Given the description of an element on the screen output the (x, y) to click on. 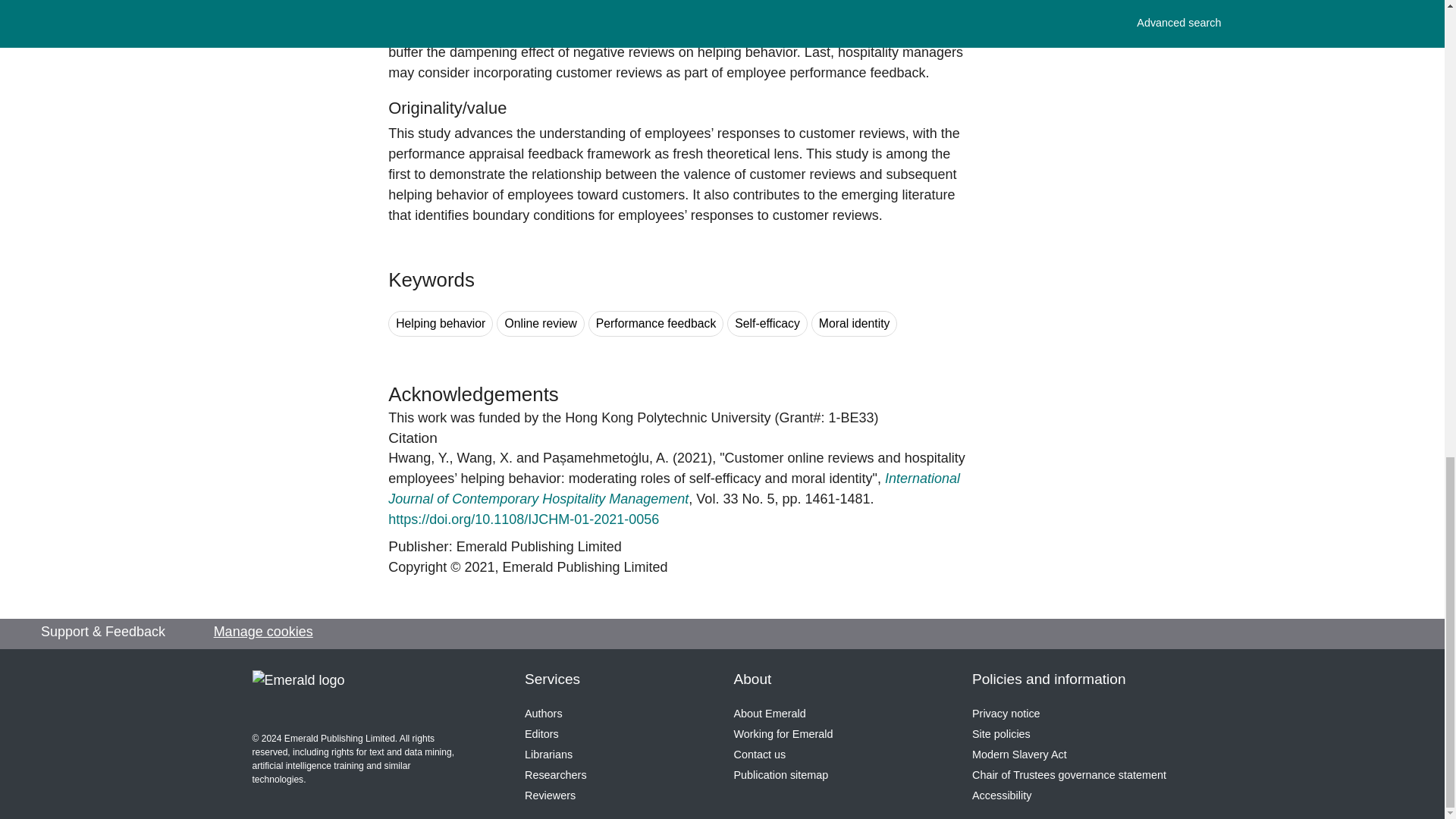
International Journal of Contemporary Hospitality Management (673, 488)
Search for keyword Performance feedback (655, 324)
Performance feedback (655, 324)
Moral identity (854, 324)
Editors (541, 734)
Search for keyword Self-efficacy (767, 324)
YooHee Hwang (418, 458)
Hwang, Y. (418, 458)
Reviewers (549, 795)
Search for keyword Online review (539, 324)
